Given the description of an element on the screen output the (x, y) to click on. 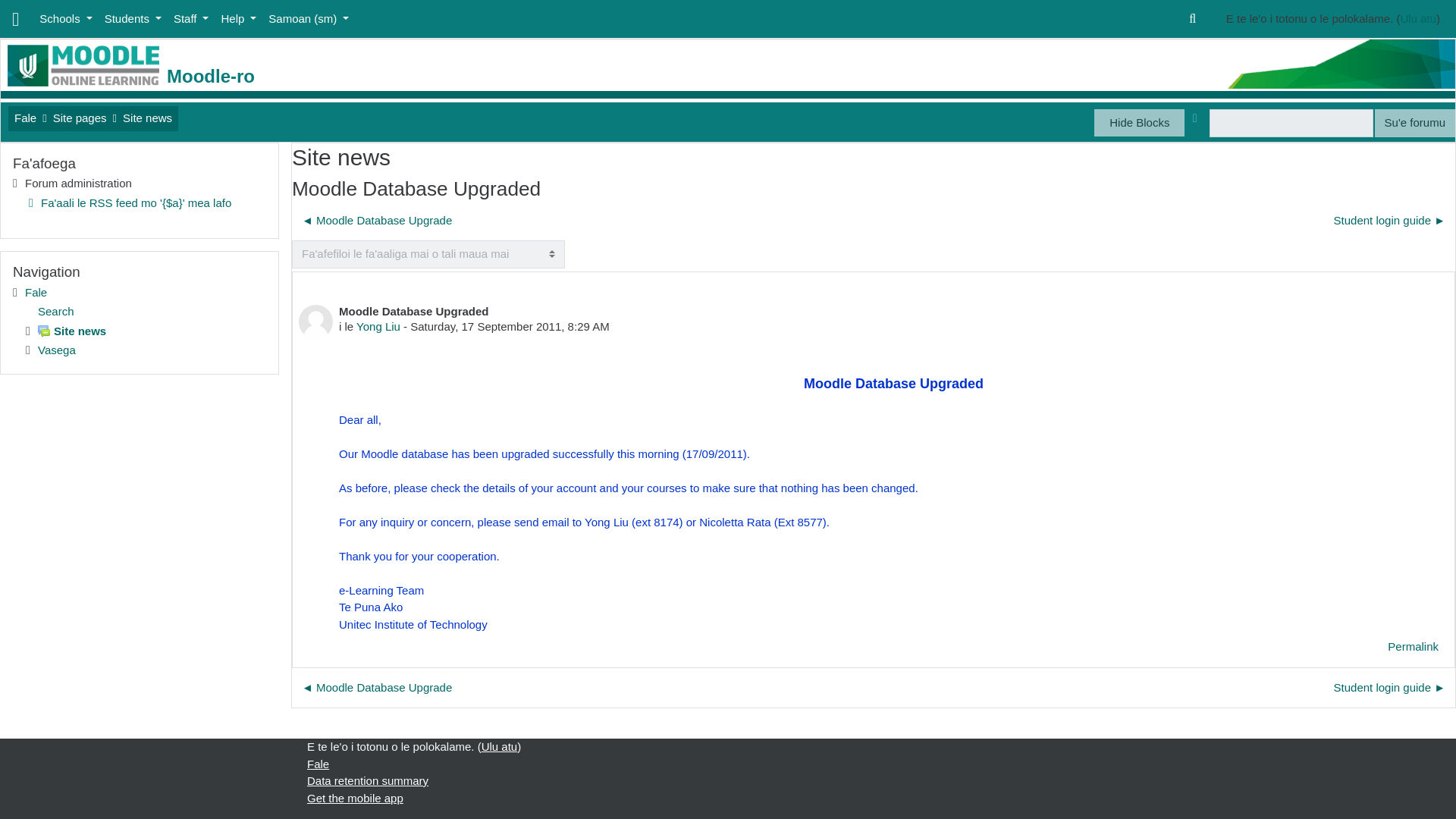
Gagana (308, 19)
Hide Blocks (1139, 122)
Schools (65, 19)
